Given the description of an element on the screen output the (x, y) to click on. 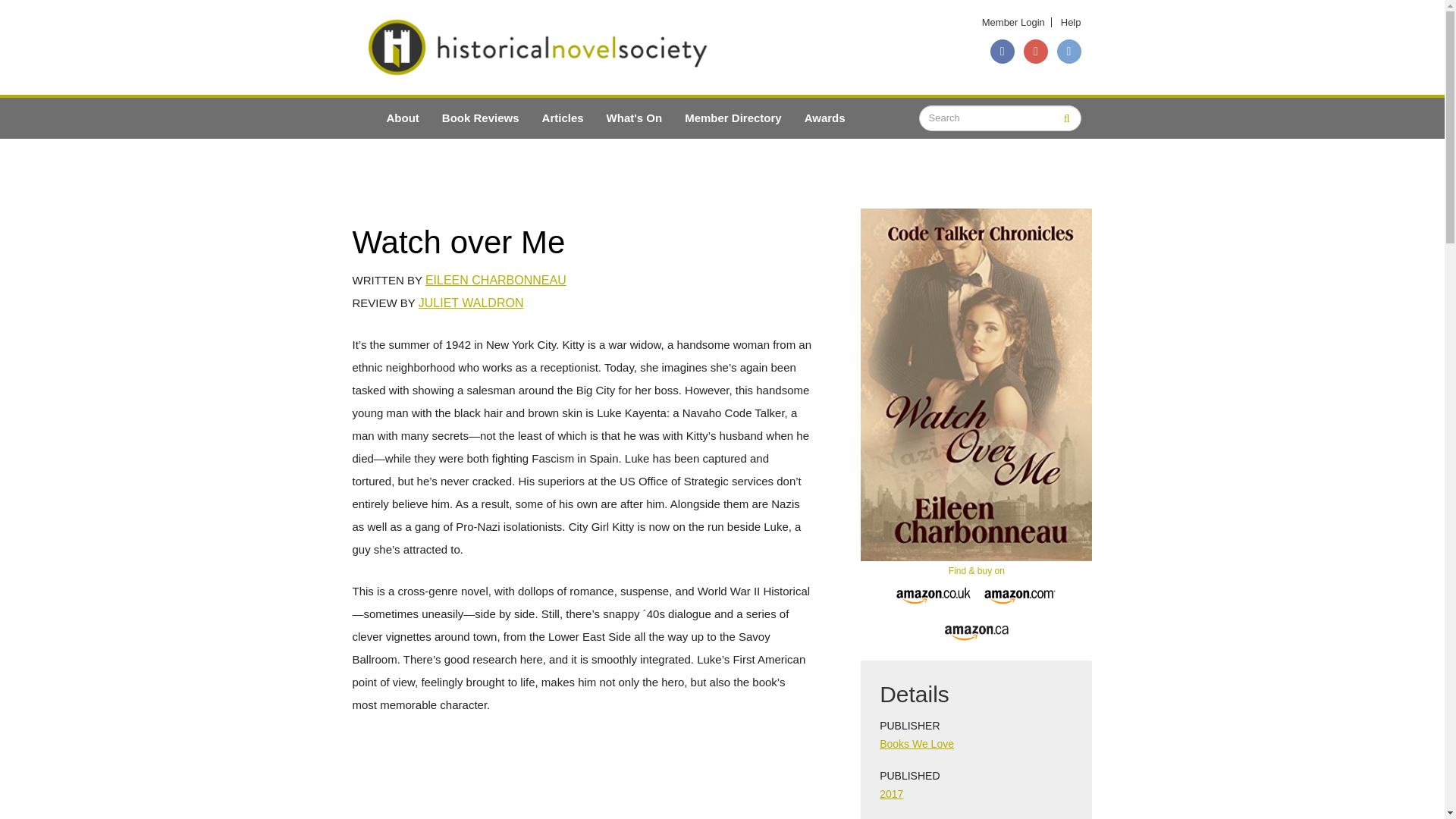
EILEEN CHARBONNEAU (495, 279)
What's On (634, 117)
Member Directory (732, 117)
Articles (563, 117)
Member Login (1013, 22)
youtube (1035, 51)
facebook (1002, 51)
Book Reviews (480, 117)
Articles (563, 117)
Member Login (1013, 22)
JULIET WALDRON (471, 302)
What's On (634, 117)
About (401, 117)
Help (1071, 22)
Reviews (480, 117)
